Given the description of an element on the screen output the (x, y) to click on. 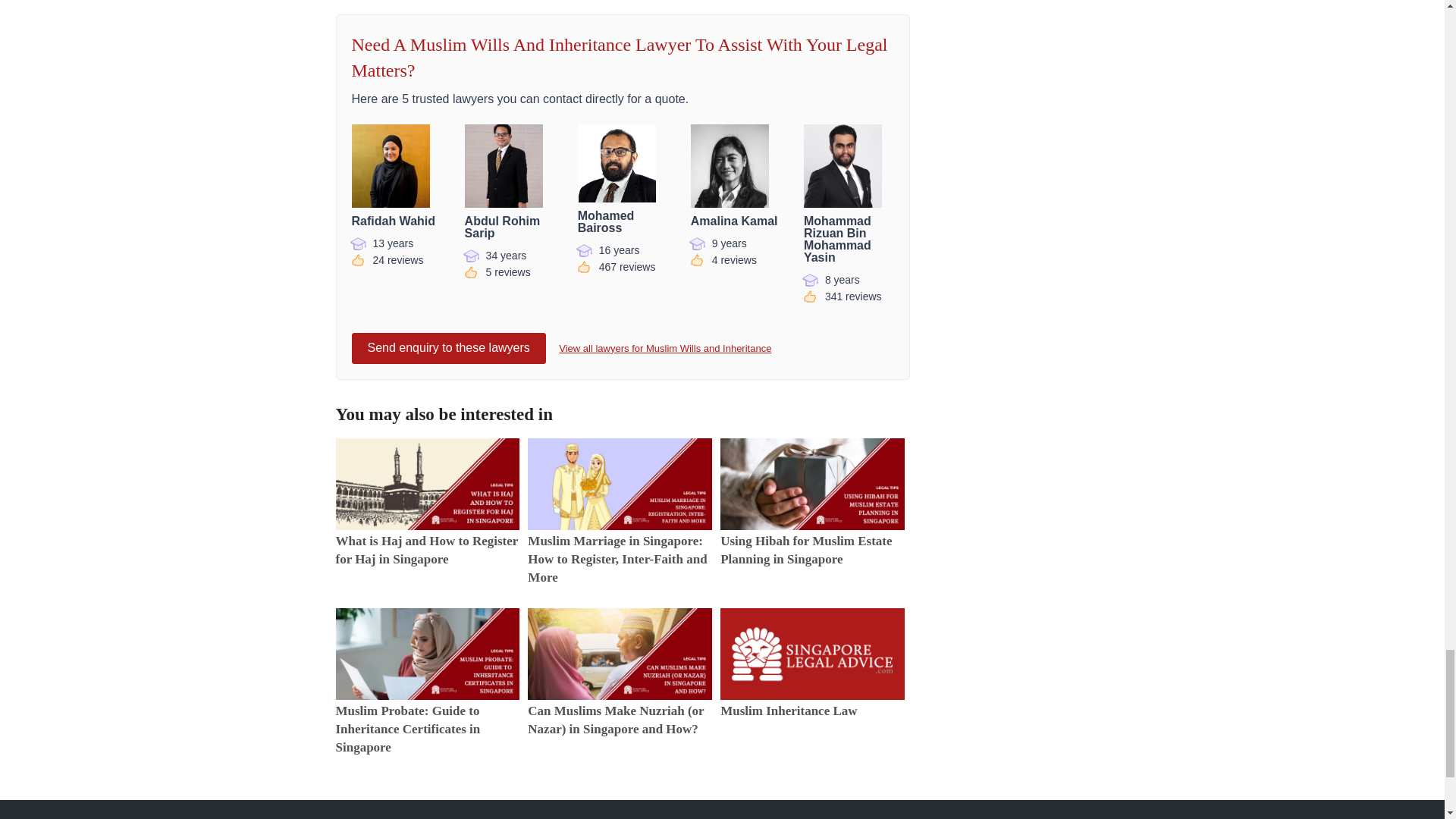
Send enquiry to these lawyers (848, 166)
Send enquiry to these lawyers (509, 166)
View all lawyers for Muslim Wills and Inheritance (449, 347)
